Given the description of an element on the screen output the (x, y) to click on. 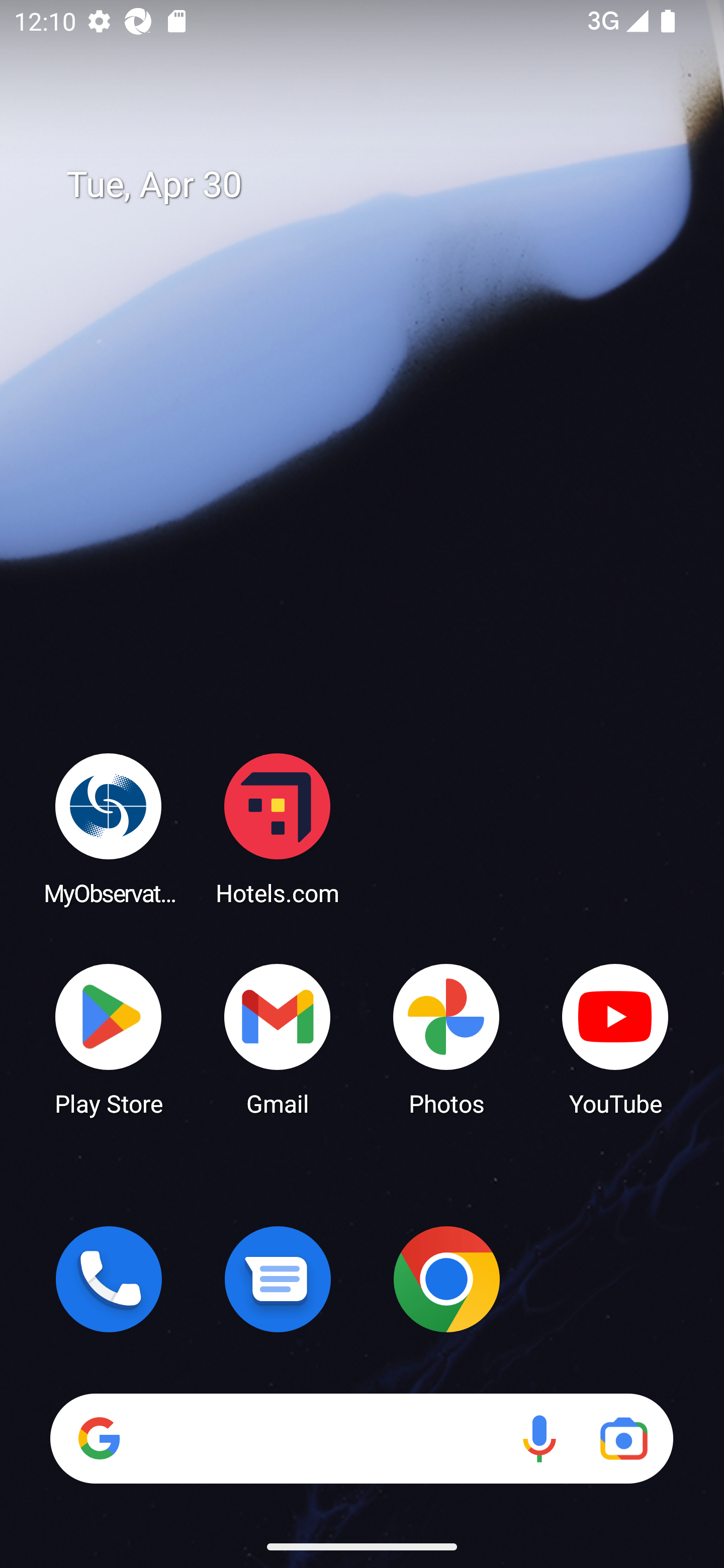
Tue, Apr 30 (375, 184)
MyObservatory (108, 828)
Hotels.com (277, 828)
Play Store (108, 1038)
Gmail (277, 1038)
Photos (445, 1038)
YouTube (615, 1038)
Phone (108, 1279)
Messages (277, 1279)
Chrome (446, 1279)
Voice search (539, 1438)
Google Lens (623, 1438)
